Given the description of an element on the screen output the (x, y) to click on. 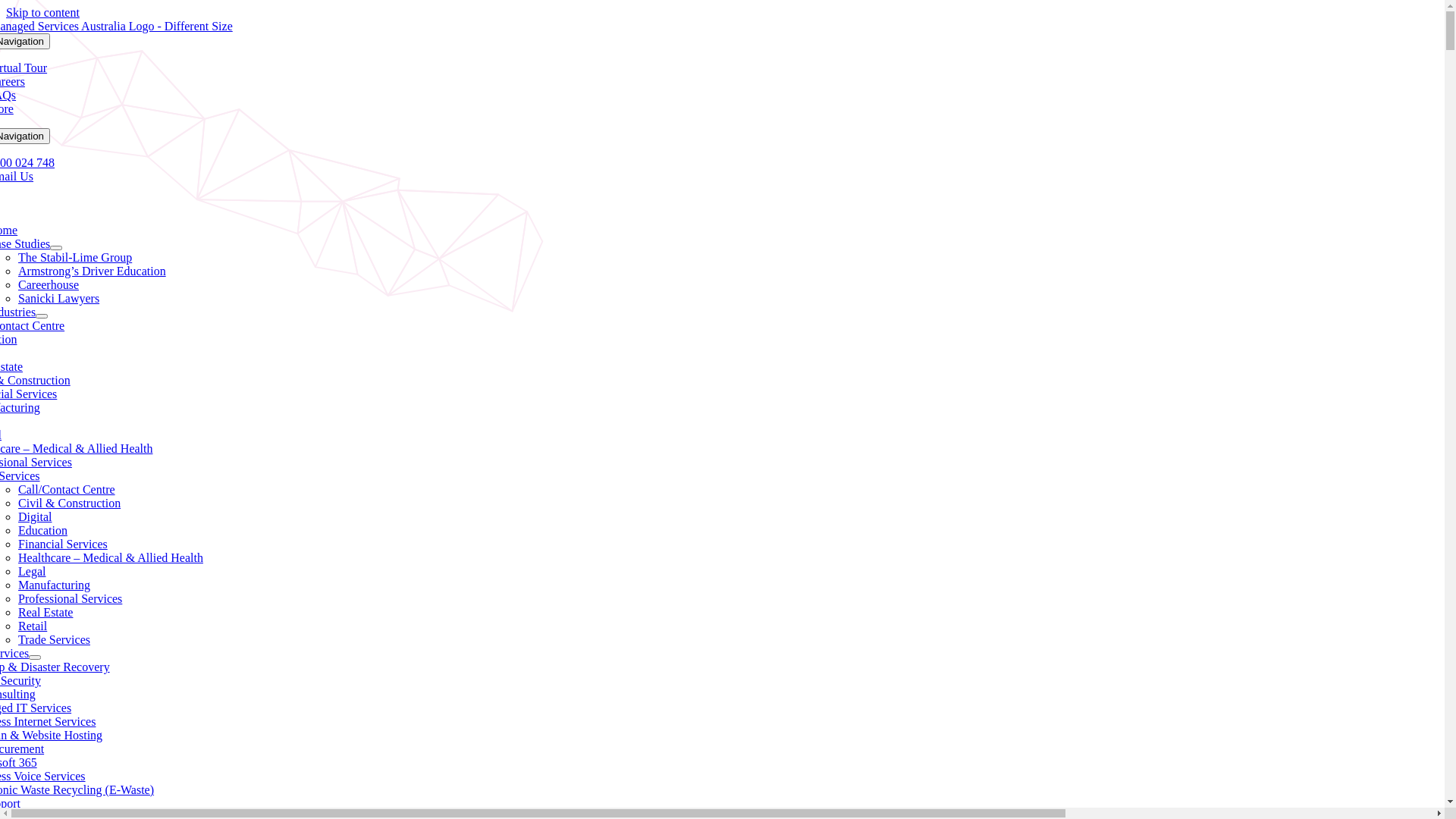
Trade Services Element type: text (54, 639)
The Stabil-Lime Group Element type: text (74, 257)
Call/Contact Centre Element type: text (66, 489)
Skip to content Element type: text (42, 12)
Financial Services Element type: text (62, 543)
Manufacturing Element type: text (54, 584)
Professional Services Element type: text (70, 598)
Legal Element type: text (31, 570)
Civil & Construction Element type: text (69, 502)
Digital Element type: text (34, 516)
Sanicki Lawyers Element type: text (58, 297)
Education Element type: text (42, 530)
Careerhouse Element type: text (48, 284)
Real Estate Element type: text (45, 611)
Retail Element type: text (32, 625)
